Given the description of an element on the screen output the (x, y) to click on. 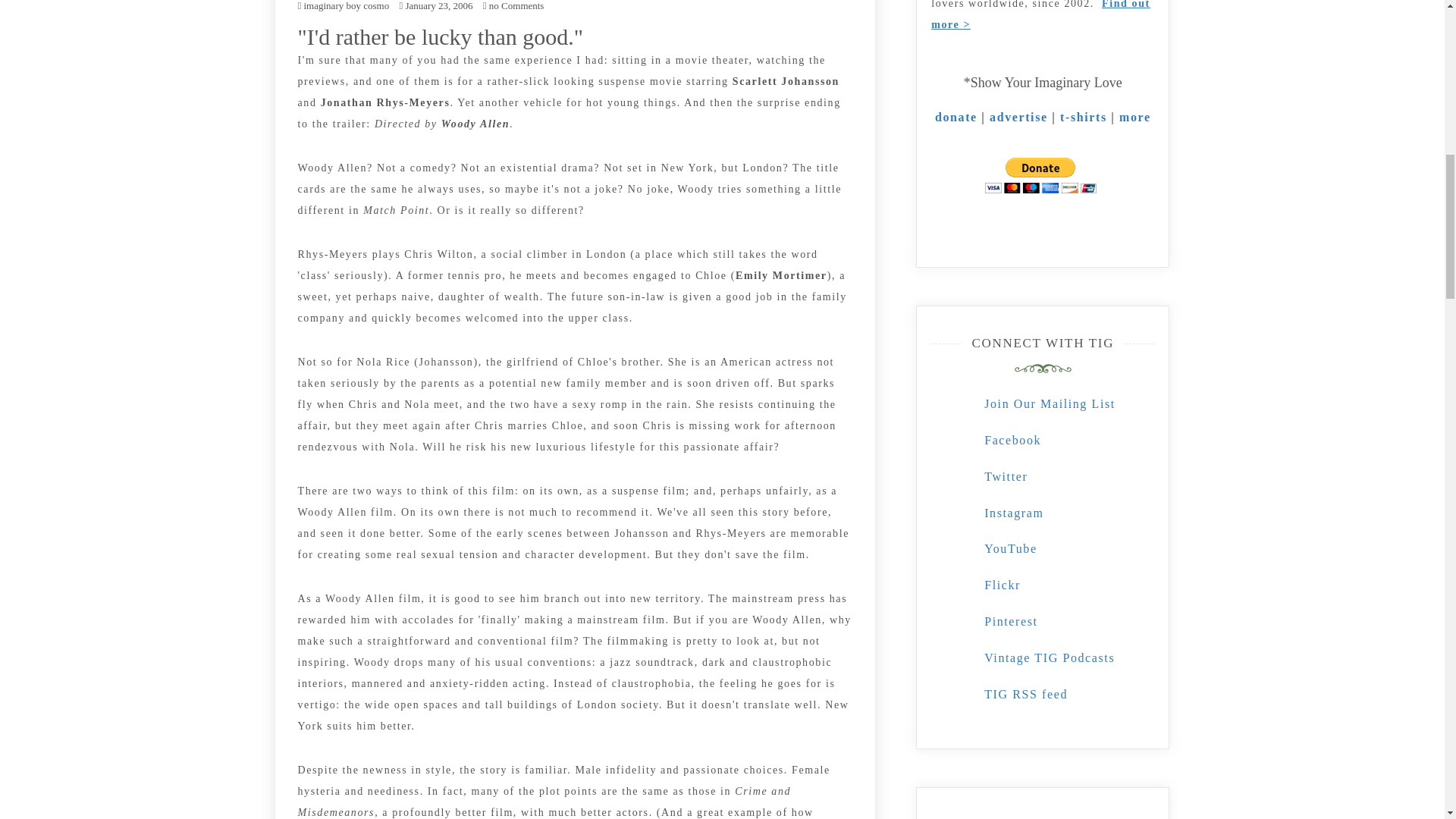
Posts by imaginary boy cosmo (345, 5)
